Given the description of an element on the screen output the (x, y) to click on. 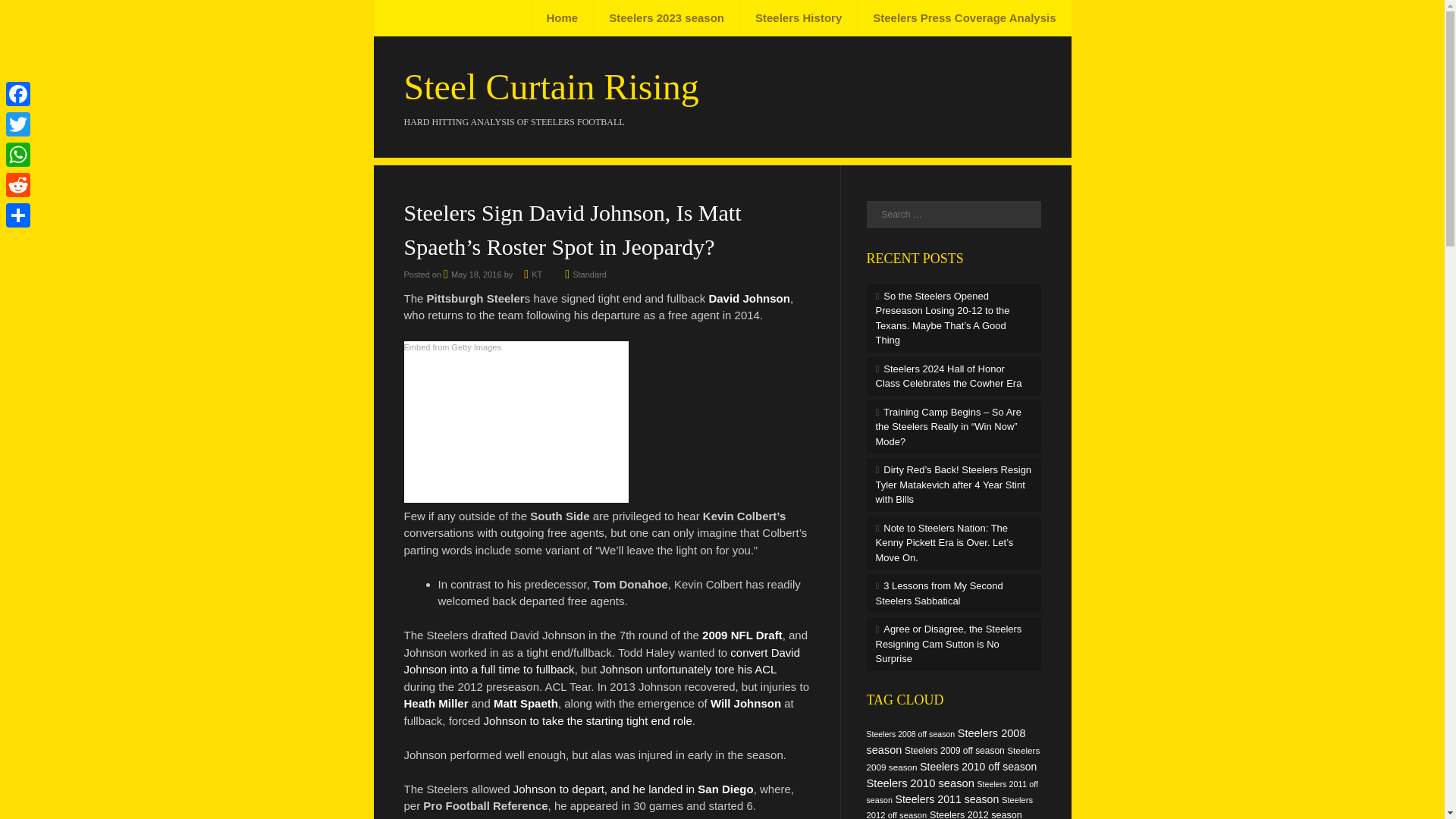
Will Johnson (745, 703)
Steel Curtain Rising (550, 86)
Standard (589, 274)
Matt Spaeth (525, 703)
Johnson to depart, and he landed in San Diego (633, 788)
Steelers 2023 season (665, 18)
Johnson to take the starting tight end role (588, 720)
Home (562, 18)
Heath Miller (435, 703)
41 topics (910, 733)
